Given the description of an element on the screen output the (x, y) to click on. 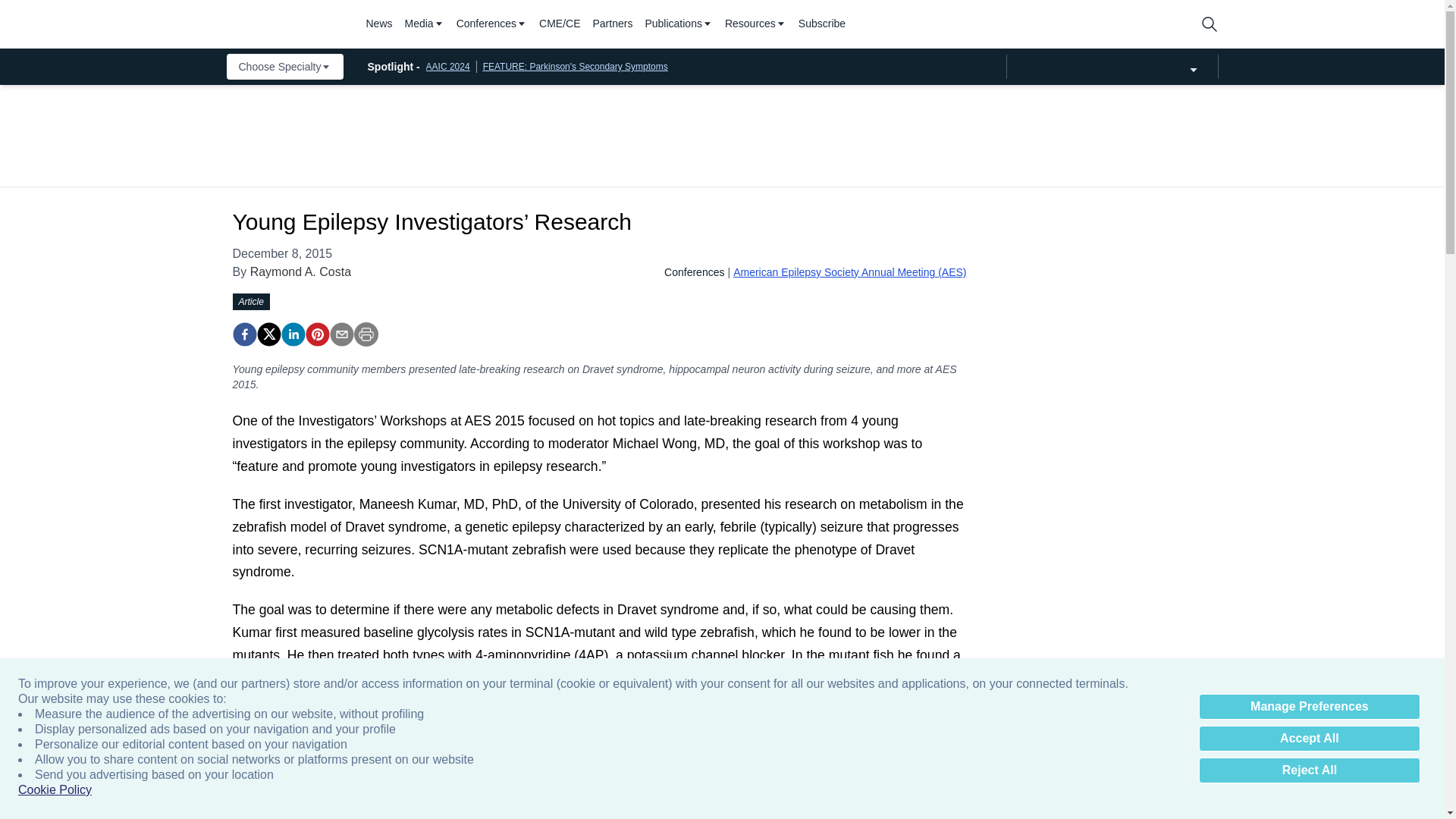
Partners (612, 23)
Conferences (492, 23)
Media (424, 23)
Publications (679, 23)
Cookie Policy (54, 789)
Reject All (1309, 769)
Accept All (1309, 738)
Resources (755, 23)
Manage Preferences (1309, 706)
News (378, 23)
